Given the description of an element on the screen output the (x, y) to click on. 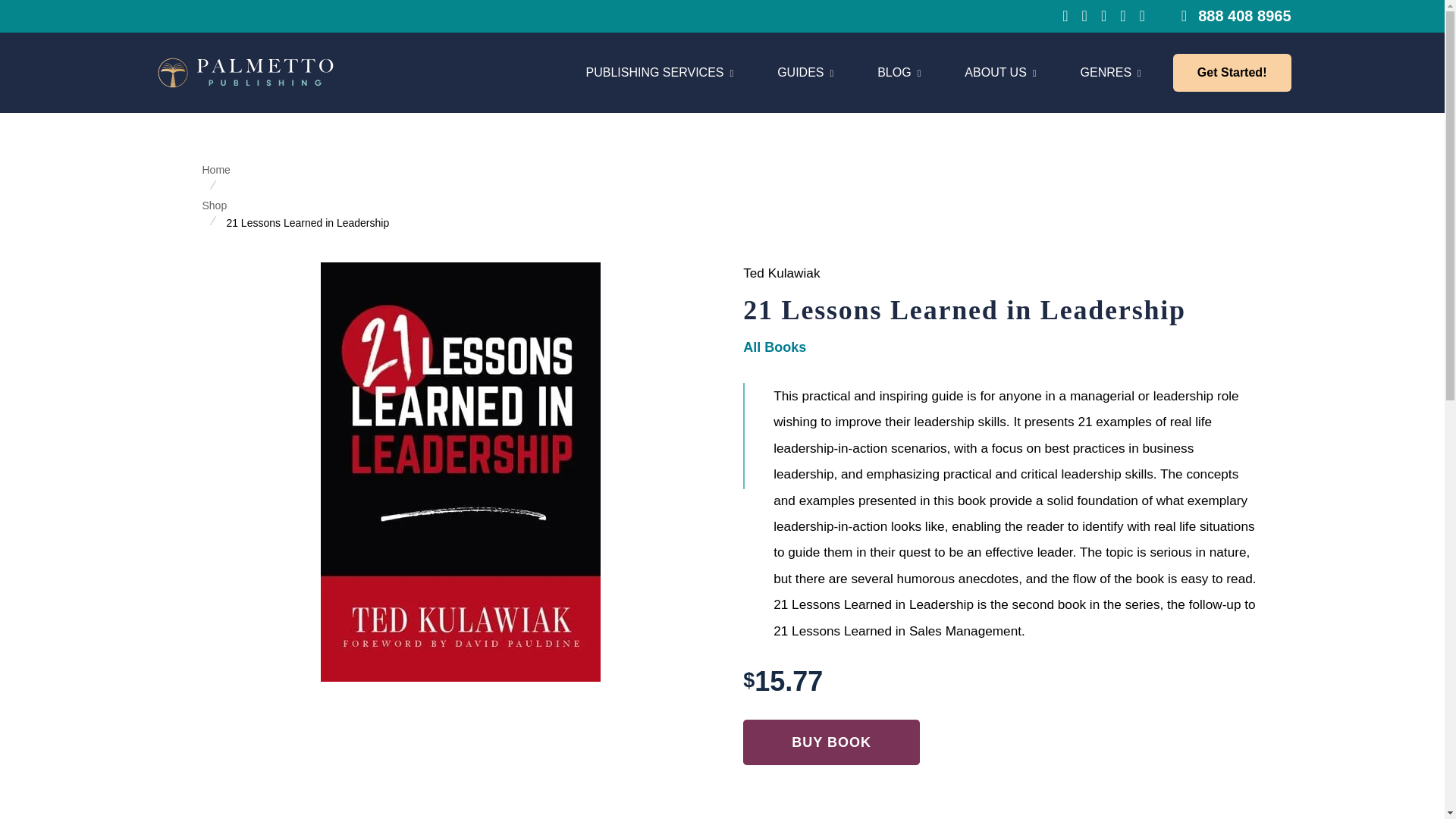
ABOUT US (1000, 72)
PUBLISHING SERVICES (659, 72)
GUIDES (804, 72)
BLOG (866, 72)
888 408 8965 (899, 72)
